Given the description of an element on the screen output the (x, y) to click on. 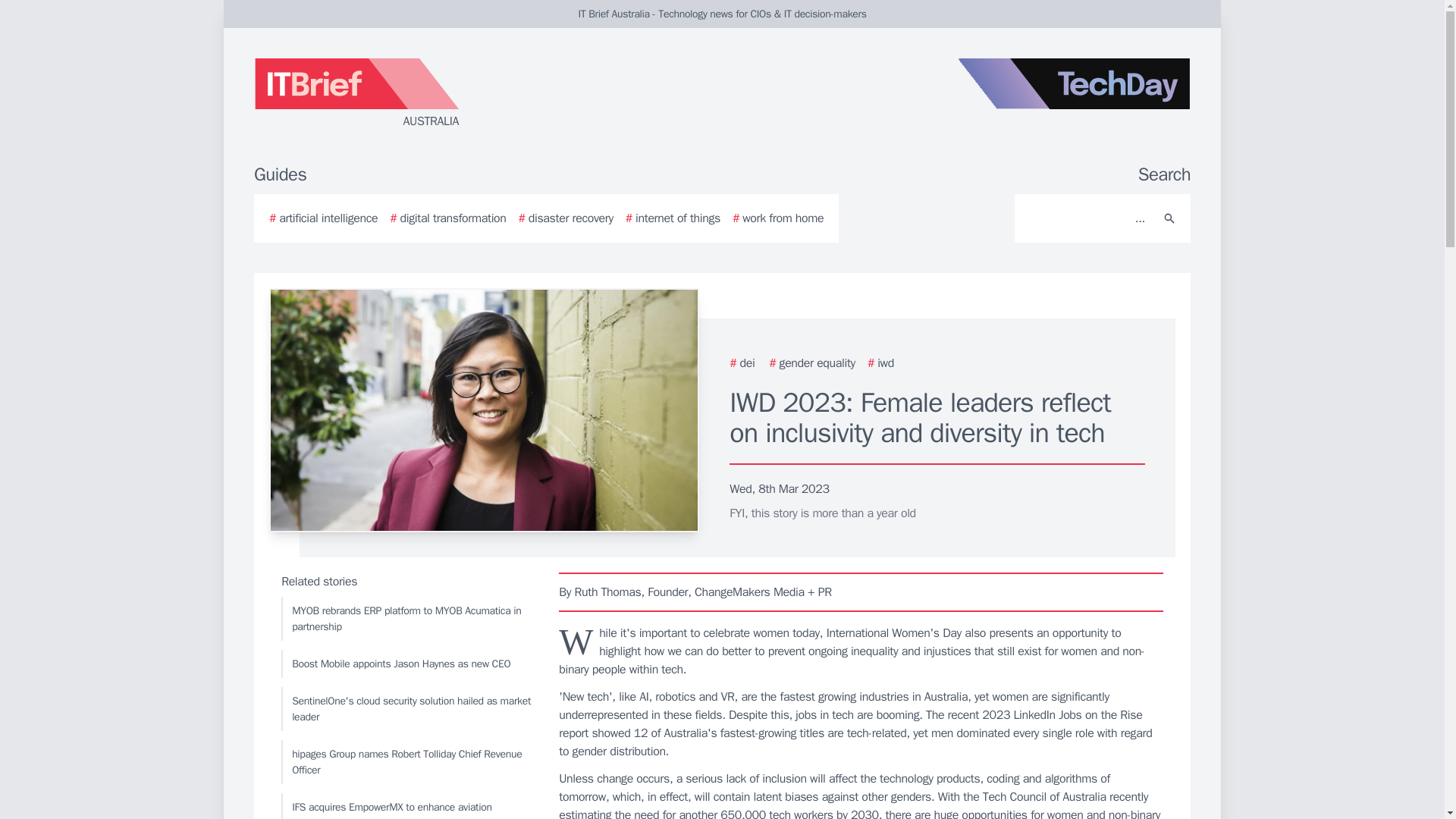
hipages Group names Robert Tolliday Chief Revenue Officer (406, 761)
IFS acquires EmpowerMX to enhance aviation maintenance AI (406, 806)
Boost Mobile appoints Jason Haynes as new CEO (406, 664)
MYOB rebrands ERP platform to MYOB Acumatica in partnership (406, 618)
AUSTRALIA (435, 94)
